Given the description of an element on the screen output the (x, y) to click on. 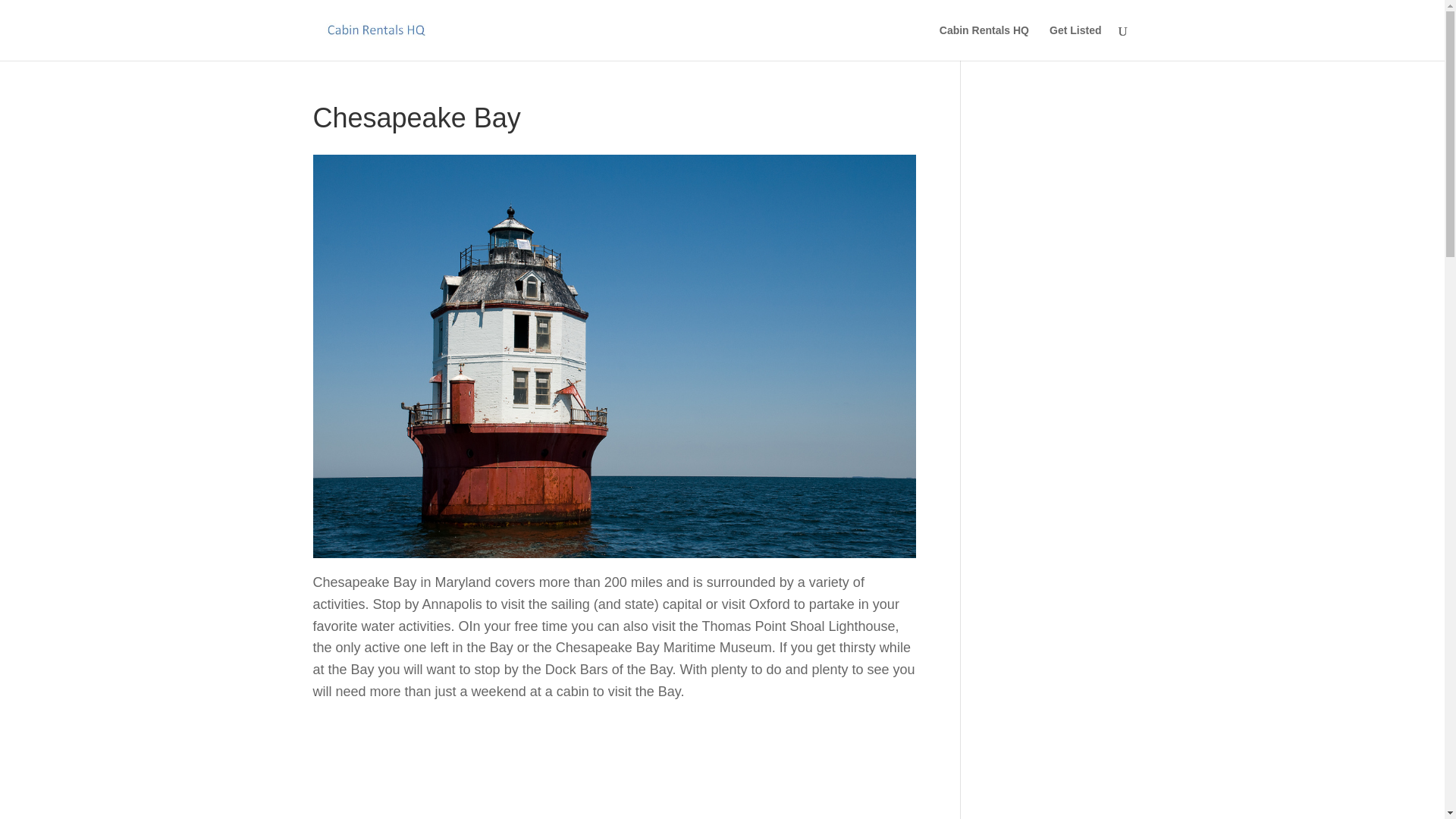
Get Listed (1074, 42)
Advertisement (614, 771)
Cabin Rentals HQ (984, 42)
